Given the description of an element on the screen output the (x, y) to click on. 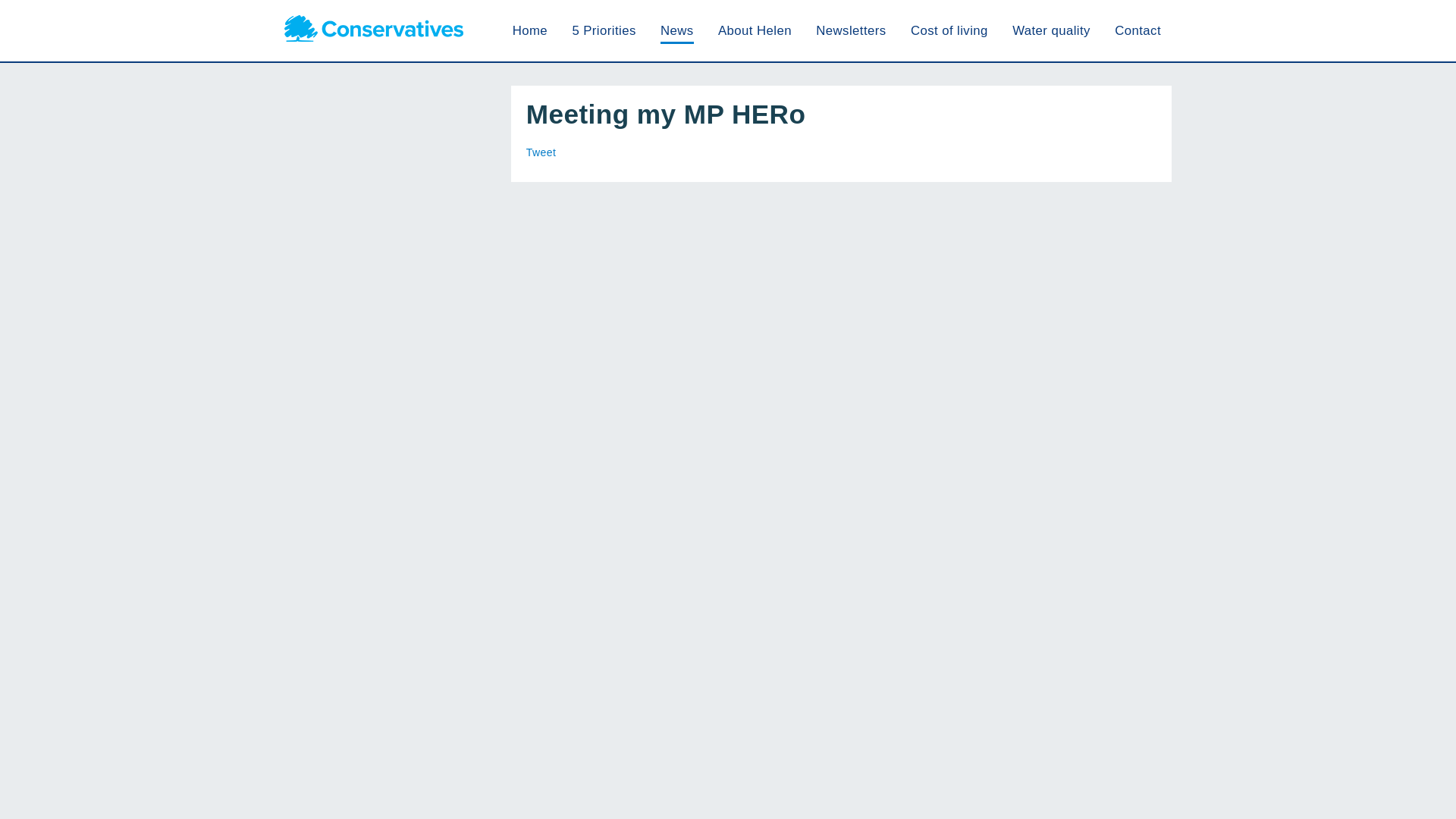
Home (529, 30)
Newsletters and Business Updates (850, 30)
Water quality (1050, 30)
Newsletters (850, 30)
Contact (1137, 30)
News (677, 30)
Tweet (540, 152)
My 5 local priorities for Faversham and Mid Kent (603, 30)
Advice on where to find support with the cost of living (949, 30)
5 Priorities (603, 30)
